Given the description of an element on the screen output the (x, y) to click on. 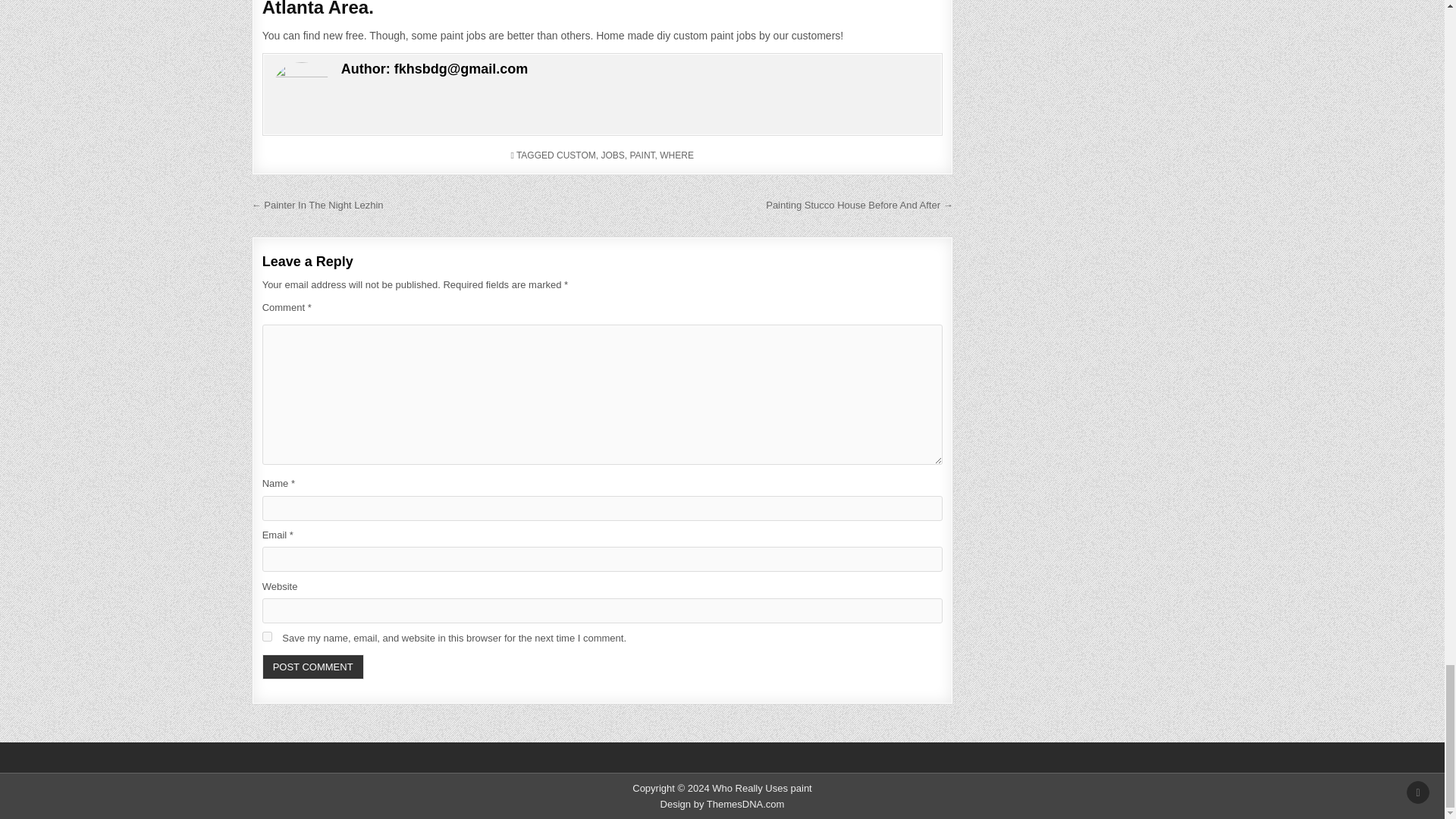
PAINT (640, 154)
Post Comment (313, 666)
JOBS (611, 154)
Design by ThemesDNA.com (722, 803)
yes (267, 636)
CUSTOM (575, 154)
WHERE (676, 154)
Post Comment (313, 666)
